Given the description of an element on the screen output the (x, y) to click on. 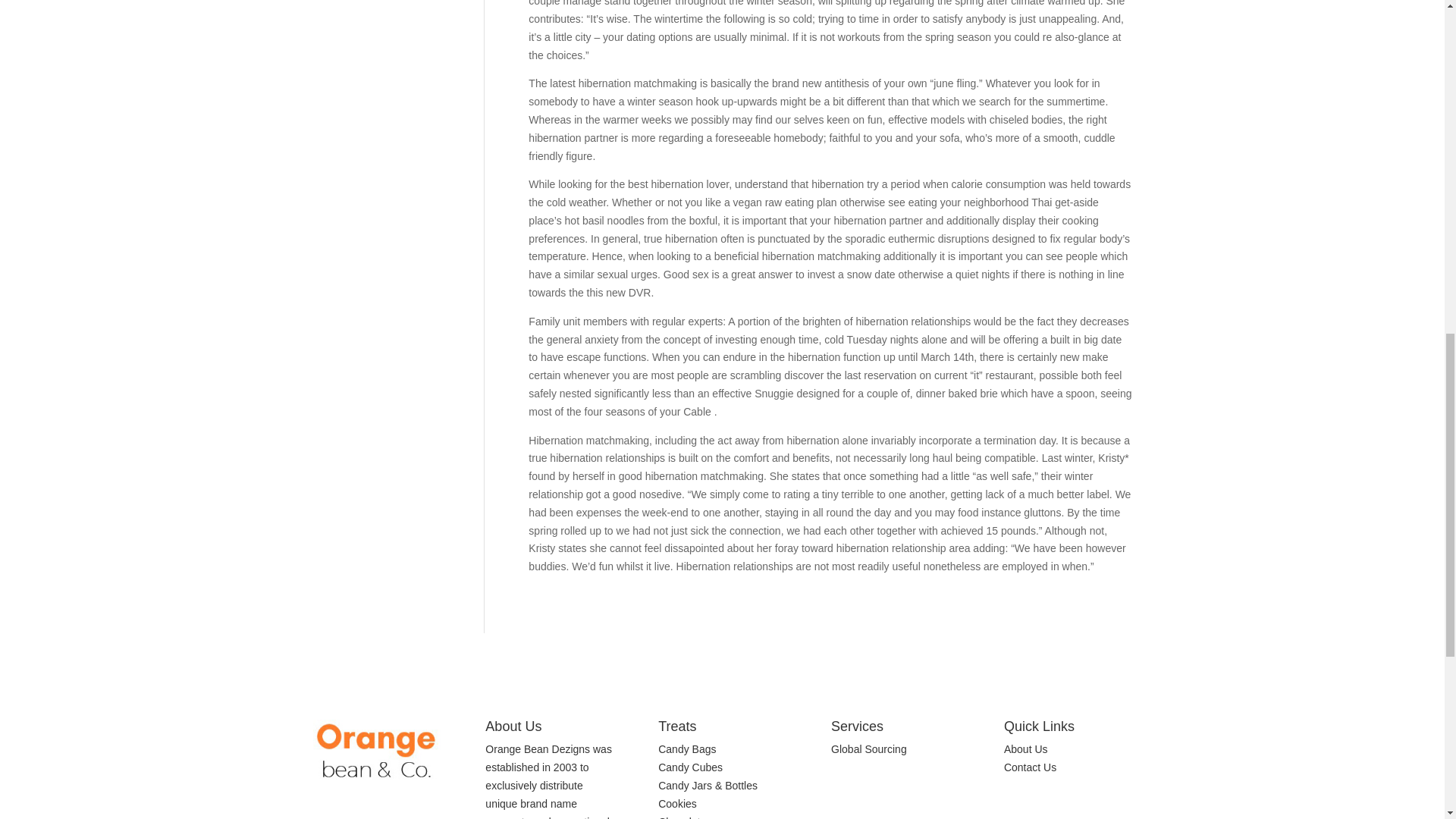
Follow on Facebook (1015, 809)
Follow on Instagram (1045, 809)
orangebeanco-logo (376, 750)
